Given the description of an element on the screen output the (x, y) to click on. 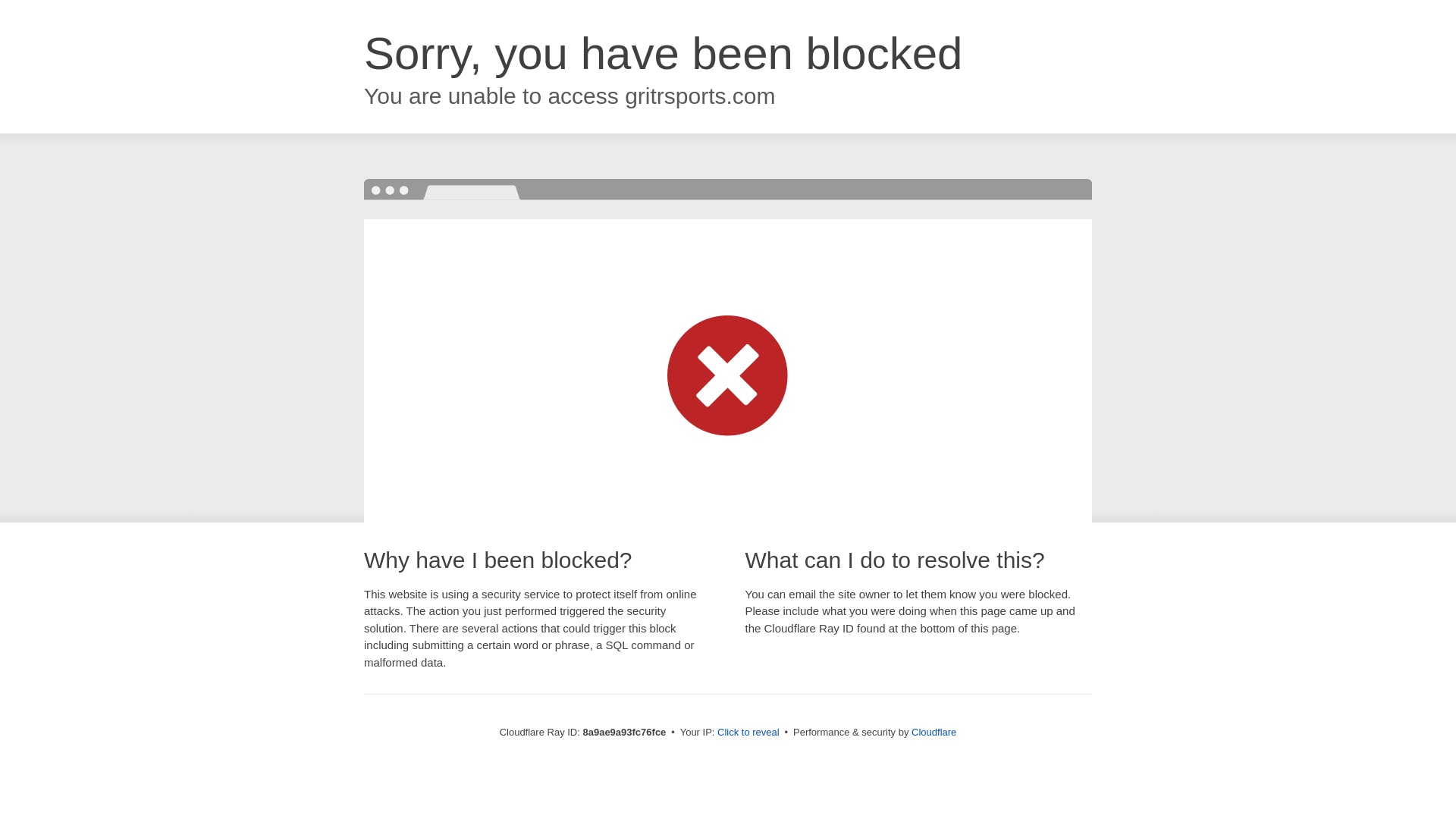
Click to reveal (747, 732)
Cloudflare (933, 731)
